Given the description of an element on the screen output the (x, y) to click on. 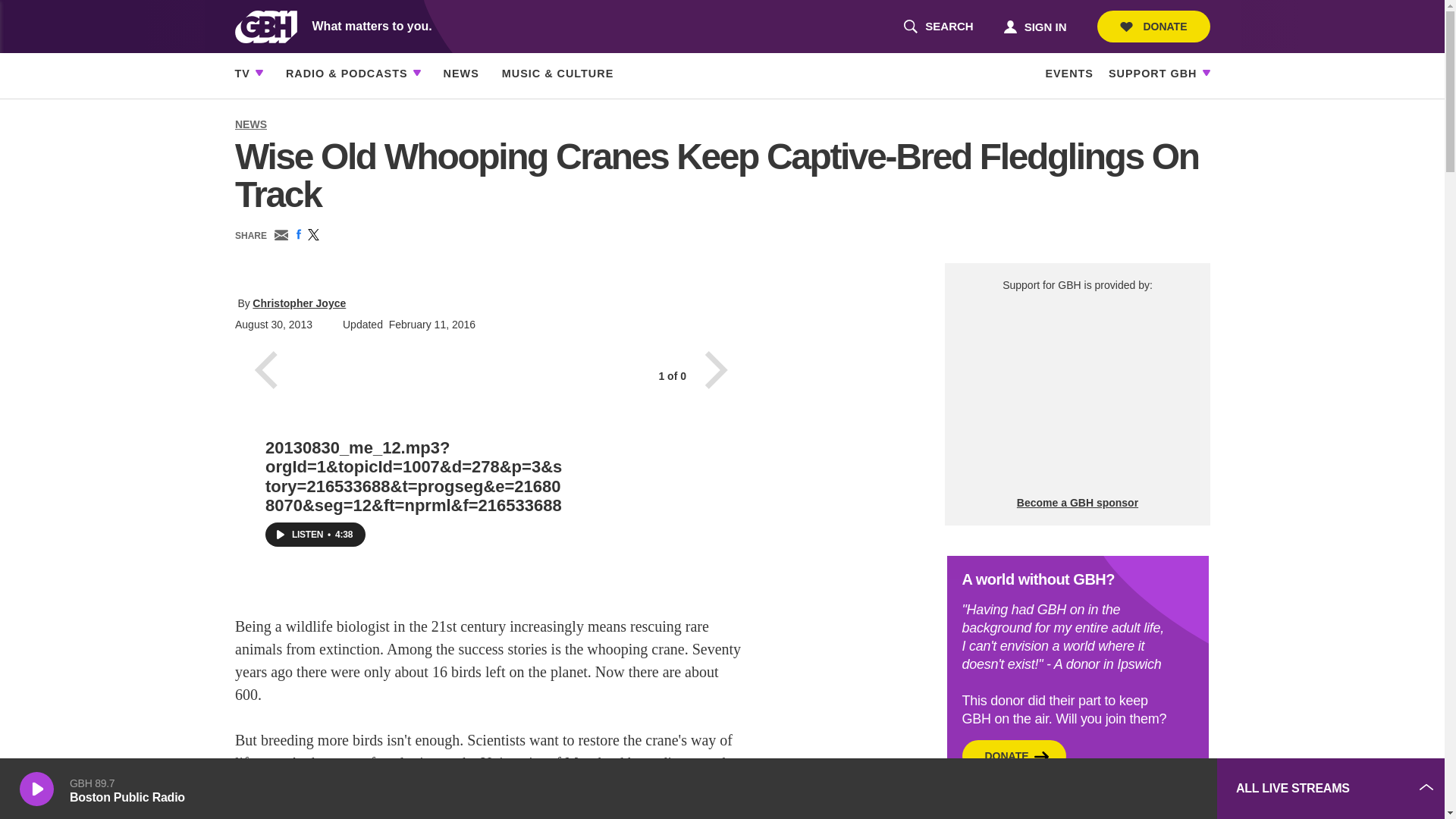
3rd party ad content (1076, 393)
3rd party ad content (1091, 788)
SIGN IN (937, 26)
DONATE (1034, 25)
